Given the description of an element on the screen output the (x, y) to click on. 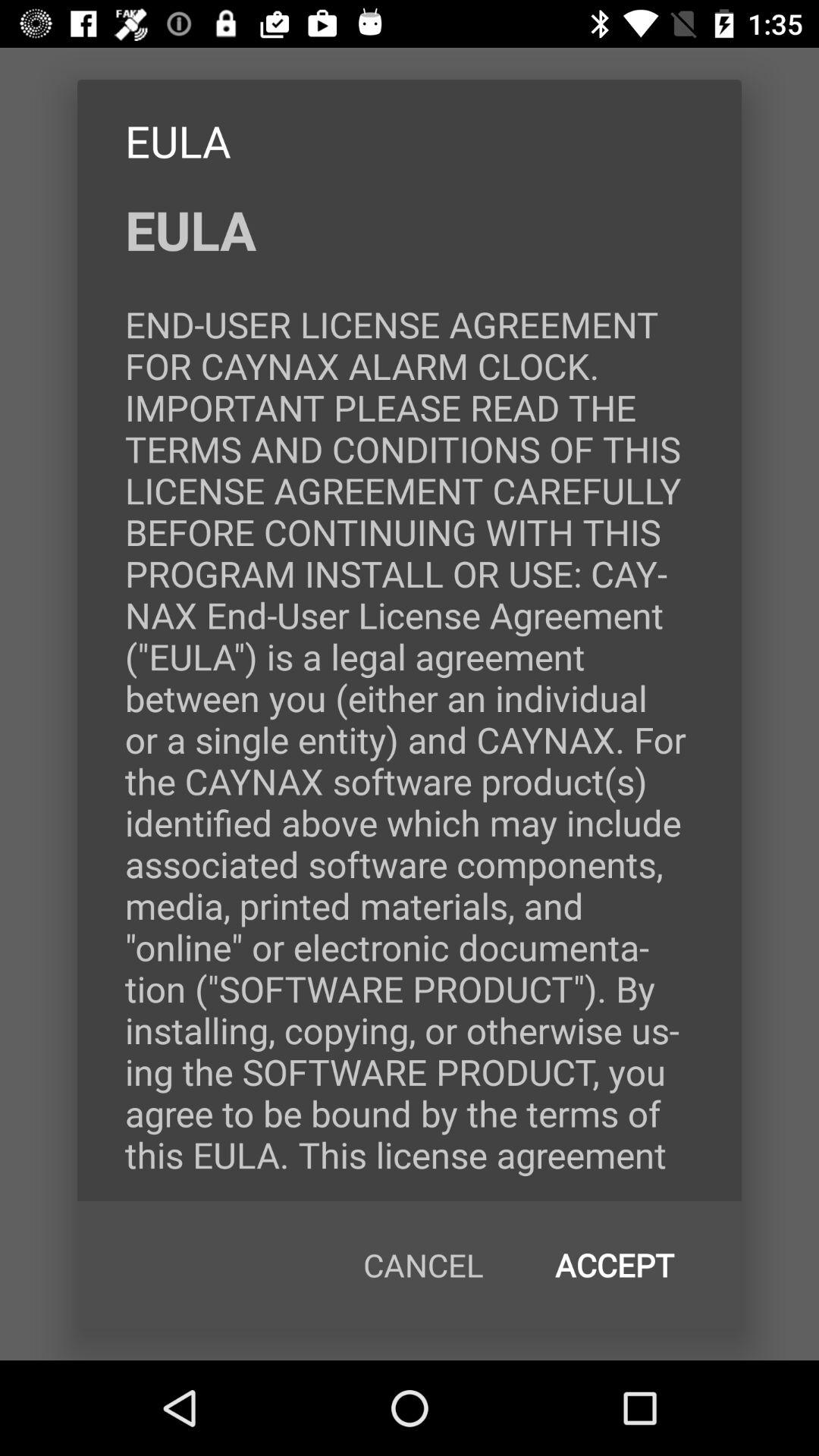
click the button next to the cancel icon (613, 1264)
